Given the description of an element on the screen output the (x, y) to click on. 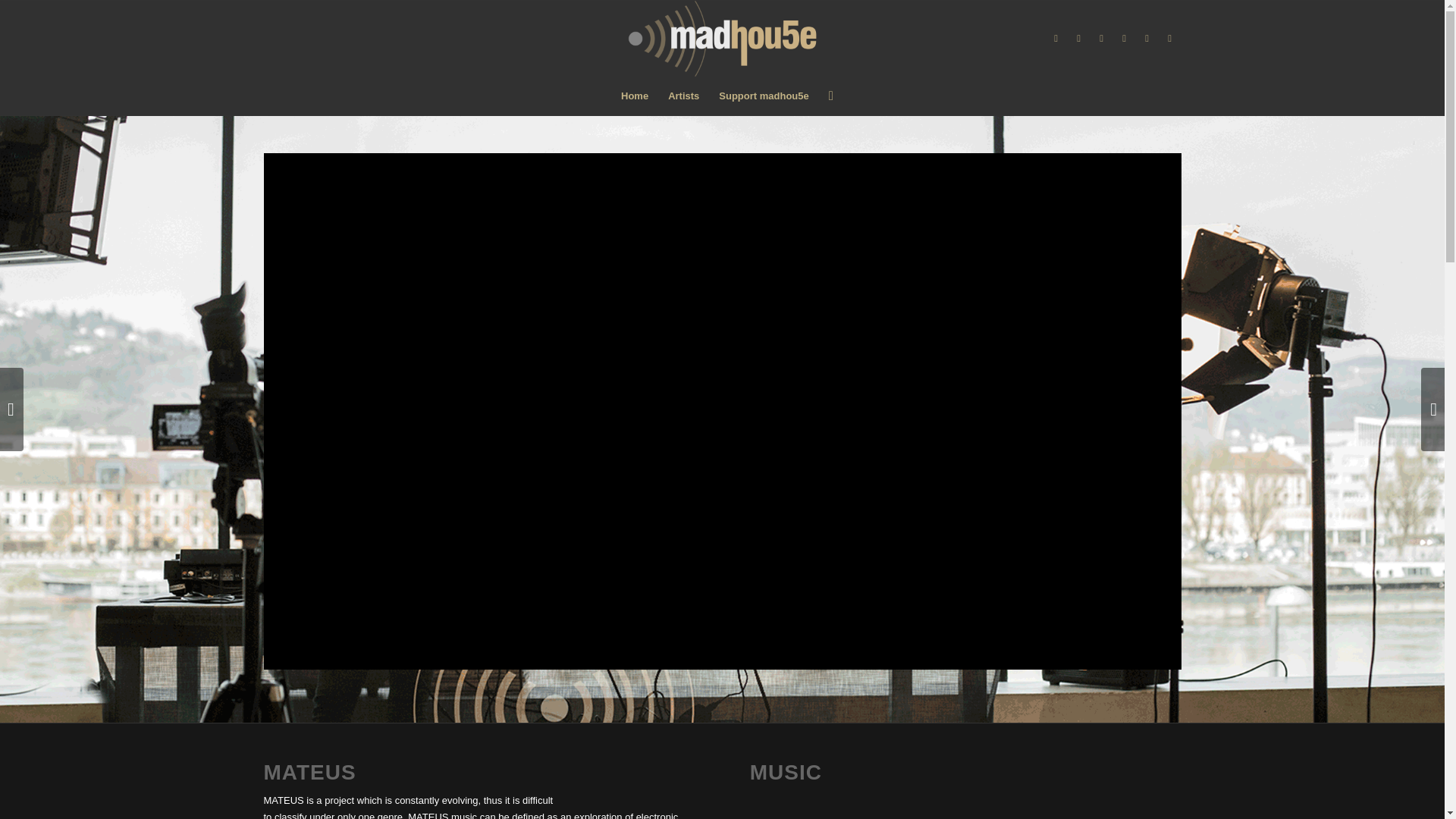
Support madhou5e (763, 95)
Facebook (1056, 38)
Vimeo (1124, 38)
Rss (1169, 38)
Youtube (1101, 38)
Mail (1146, 38)
Home (634, 95)
Artists (683, 95)
Twitter (1078, 38)
